Given the description of an element on the screen output the (x, y) to click on. 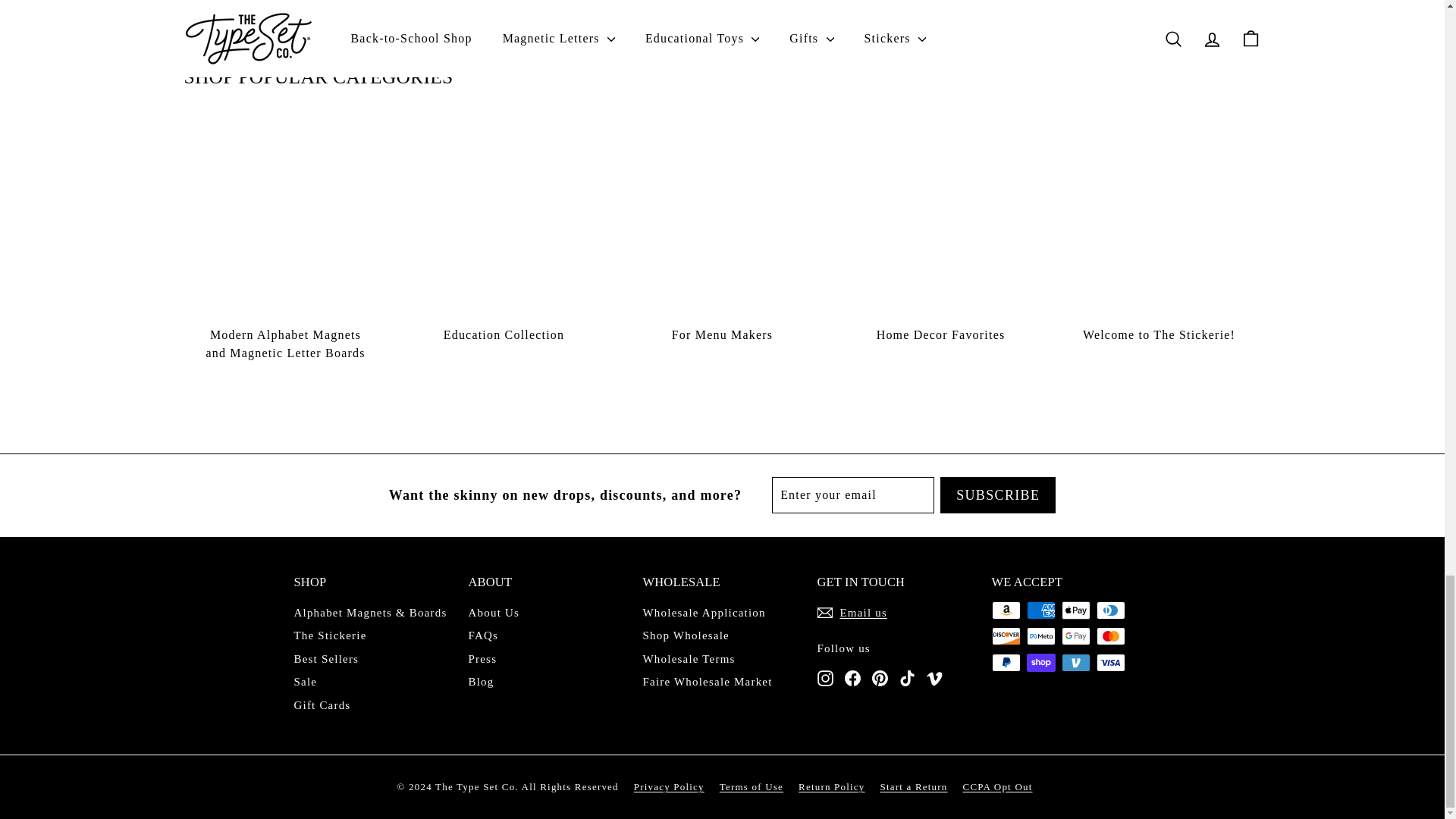
Apple Pay (1075, 610)
instagram (824, 678)
vimeo (934, 678)
The Type Set Co. on TikTok (907, 677)
The Type Set Co. on Instagram (824, 677)
The Type Set Co. on Facebook (852, 677)
Amazon (1005, 610)
American Express (1040, 610)
The Type Set Co. on Vimeo (934, 677)
The Type Set Co. on Pinterest (880, 677)
